Given the description of an element on the screen output the (x, y) to click on. 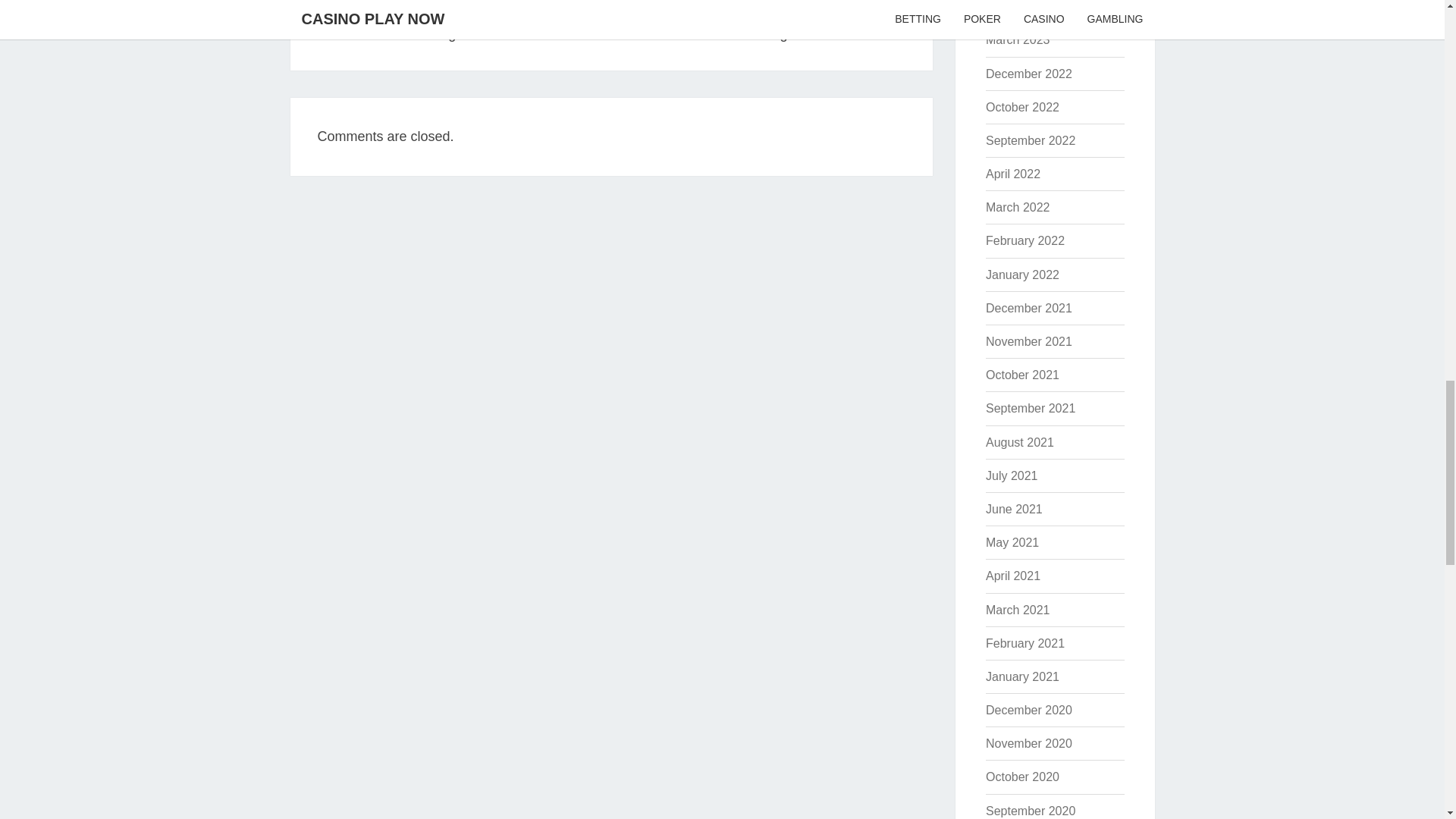
September 2022 (1030, 140)
December 2022 (772, 20)
March 2023 (1028, 73)
March 2022 (1017, 39)
April 2023 (1017, 206)
October 2022 (1013, 6)
April 2022 (1022, 106)
